Given the description of an element on the screen output the (x, y) to click on. 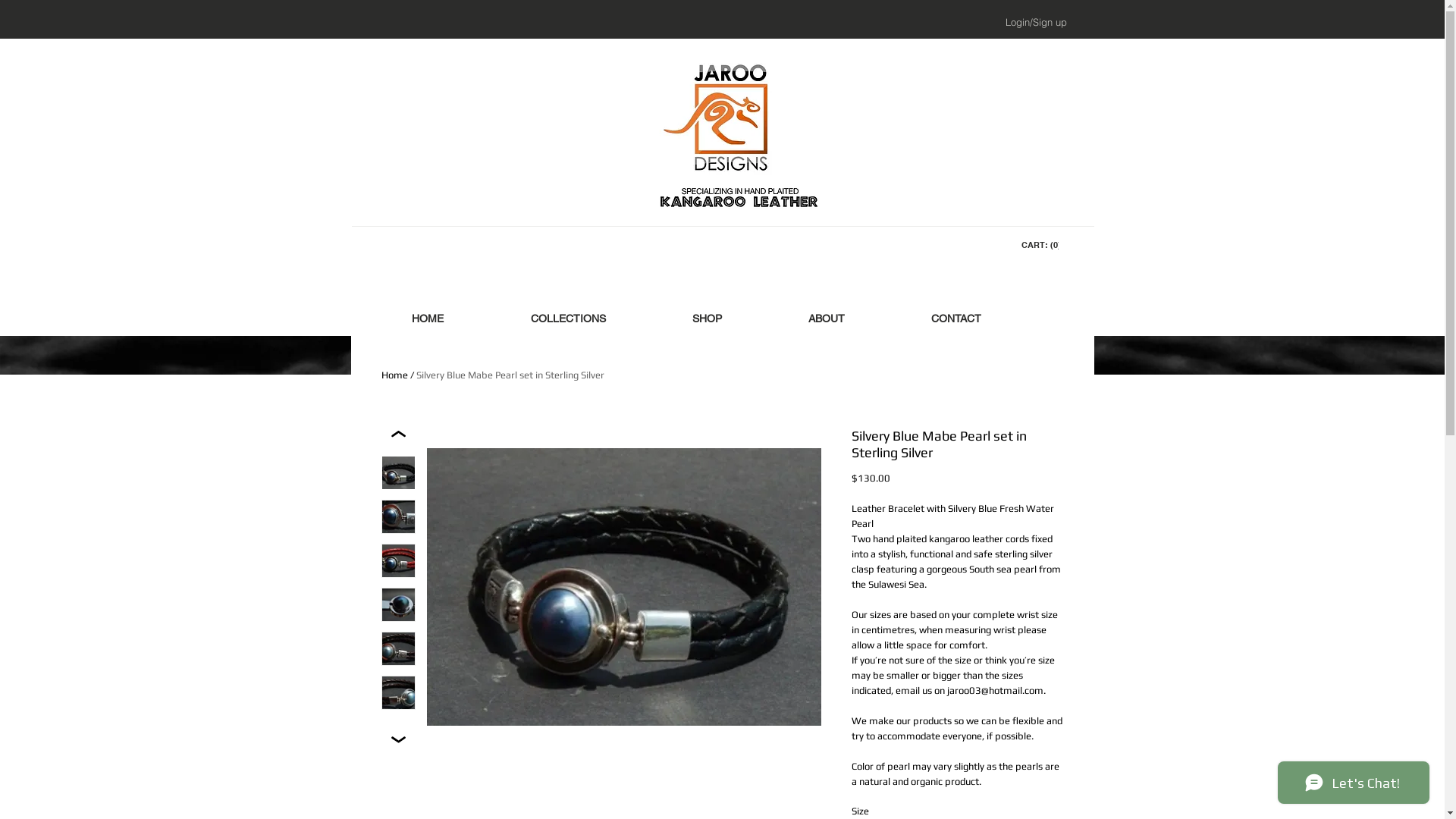
Site Search Element type: hover (721, 19)
Jaroo Designs Element type: hover (722, 125)
CONTACT Element type: text (955, 318)
CART: (0) Element type: text (1038, 245)
Home Element type: text (393, 374)
HOME Element type: text (427, 318)
Login/Sign up Element type: text (1035, 21)
SHOP Element type: text (707, 318)
Silvery Blue Mabe Pearl set in Sterling Silver Element type: text (509, 374)
FREE SHIPPING ON AUS ORDERS $75+ >> Element type: text (722, 279)
ABOUT Element type: text (825, 318)
COLLECTIONS Element type: text (567, 318)
